Given the description of an element on the screen output the (x, y) to click on. 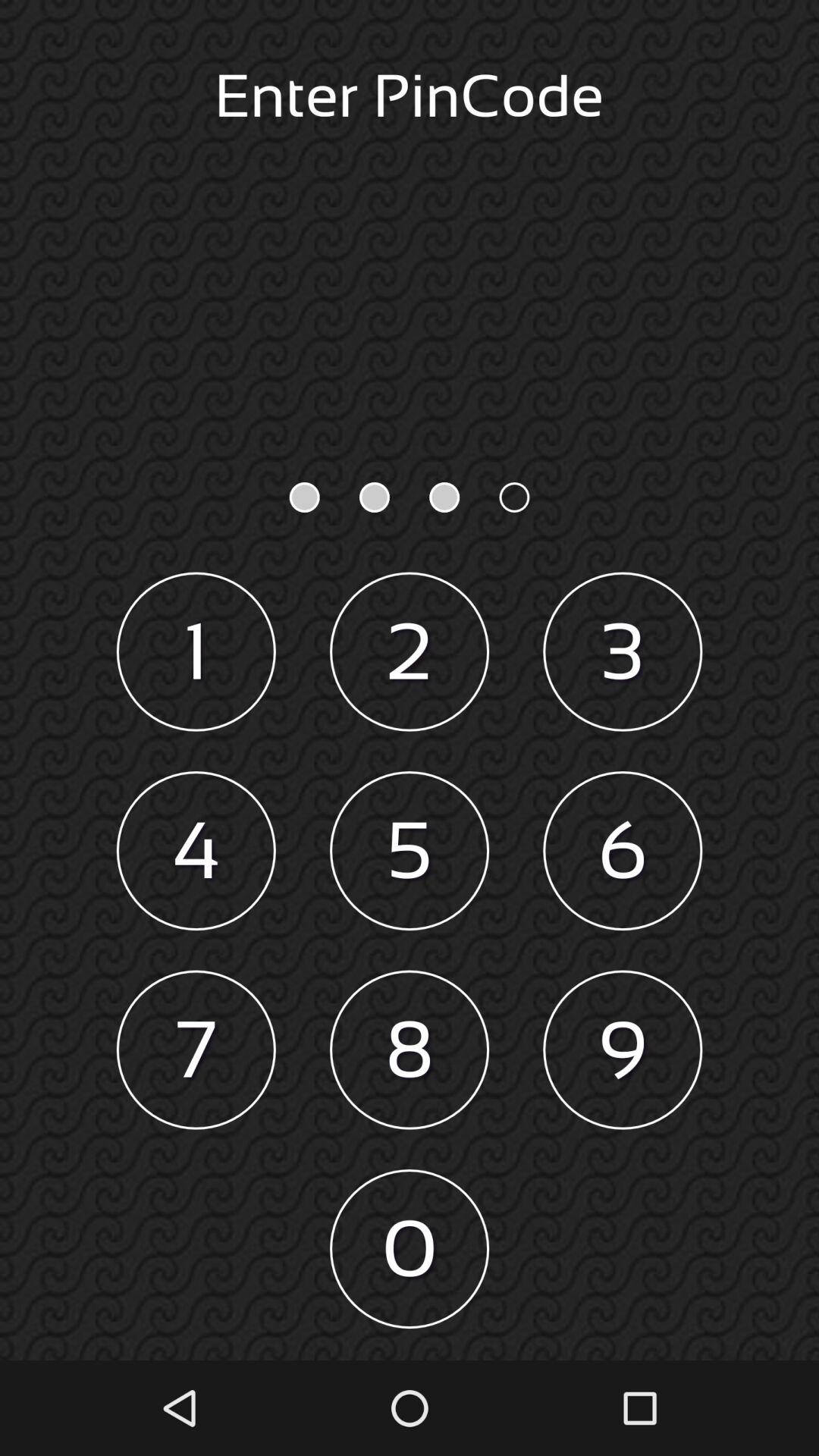
click the item above the 8 icon (409, 850)
